Given the description of an element on the screen output the (x, y) to click on. 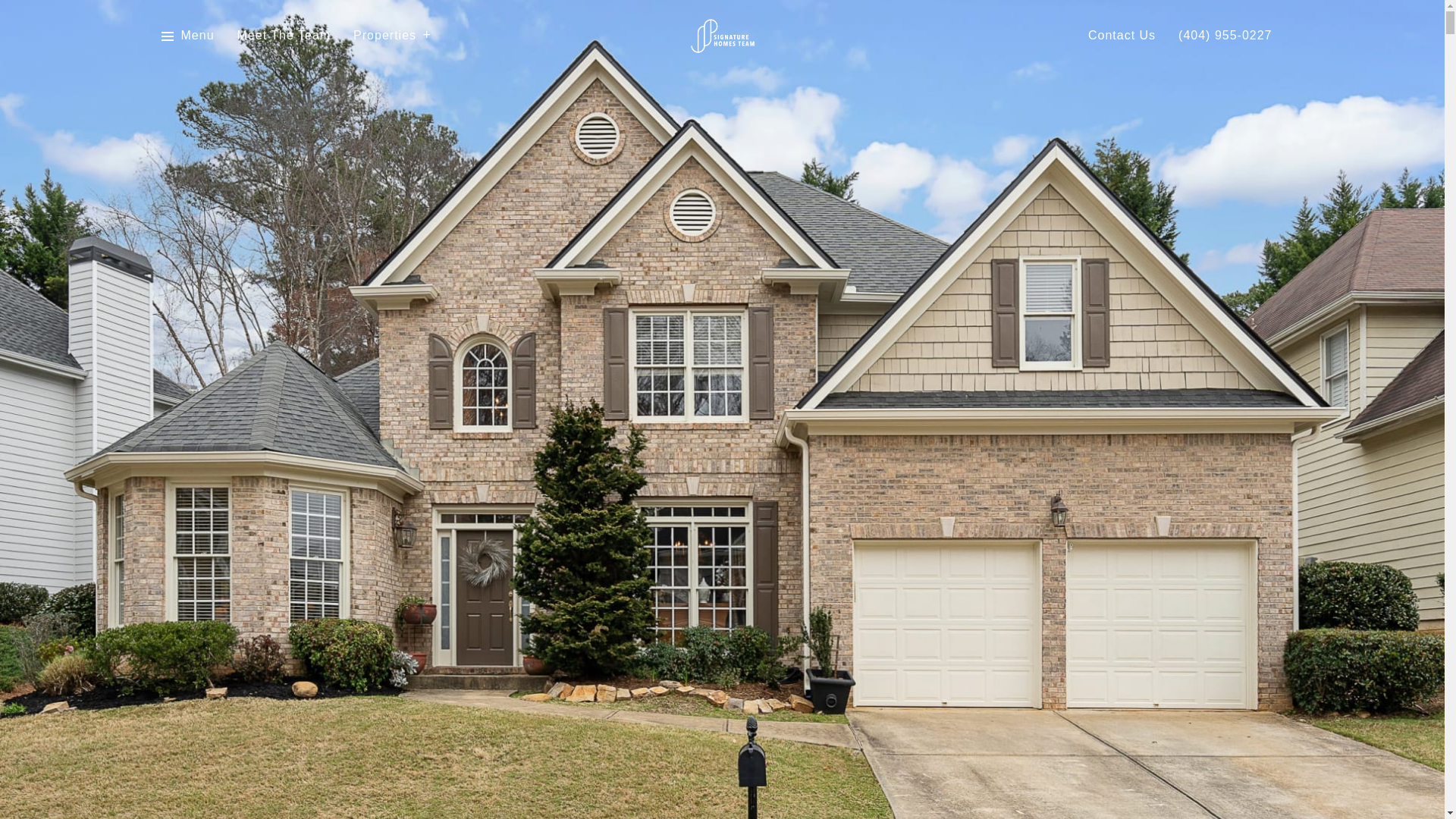
Menu (187, 35)
Properties (391, 35)
Menu (197, 35)
Meet The Team (284, 35)
Contact Us (1121, 35)
